Given the description of an element on the screen output the (x, y) to click on. 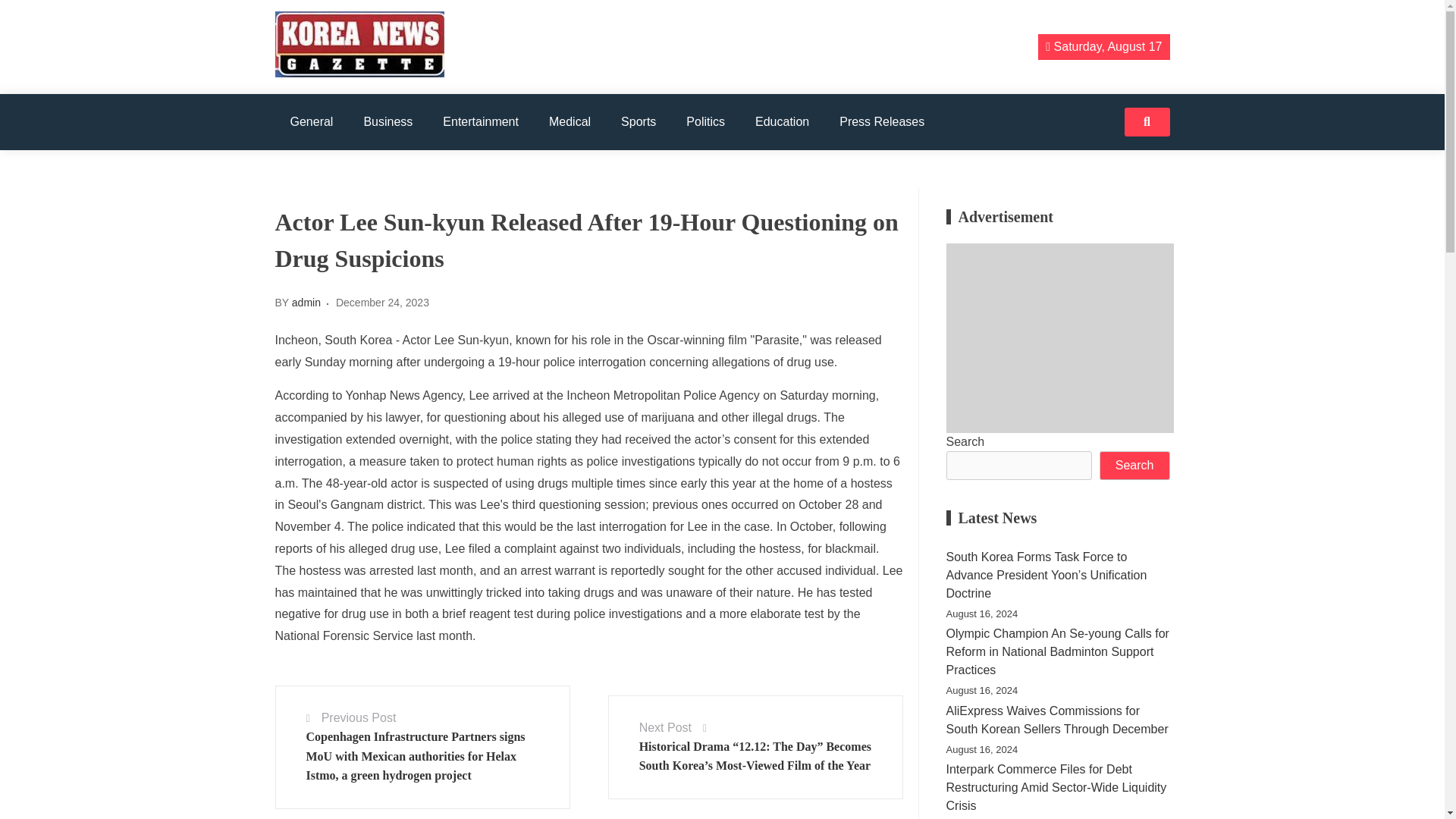
Korea News Gazette (377, 97)
Press Releases (881, 121)
Medical (569, 121)
Previous Post (358, 717)
Next Post (665, 727)
Sports (638, 121)
General (311, 121)
Search (1134, 465)
Education (781, 121)
